Given the description of an element on the screen output the (x, y) to click on. 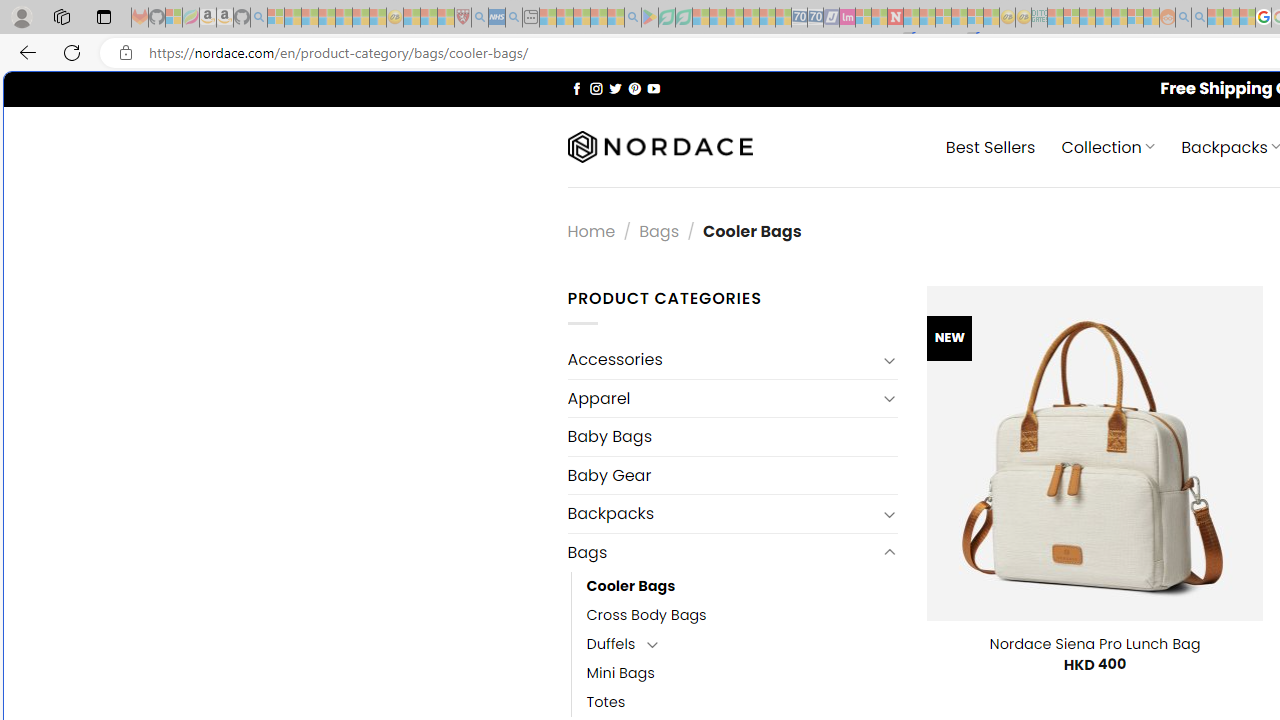
Nordace Siena Pro Lunch Bag (1094, 643)
Baby Bags (732, 436)
Follow on YouTube (653, 88)
Baby Gear (732, 475)
Mini Bags (742, 673)
